Given the description of an element on the screen output the (x, y) to click on. 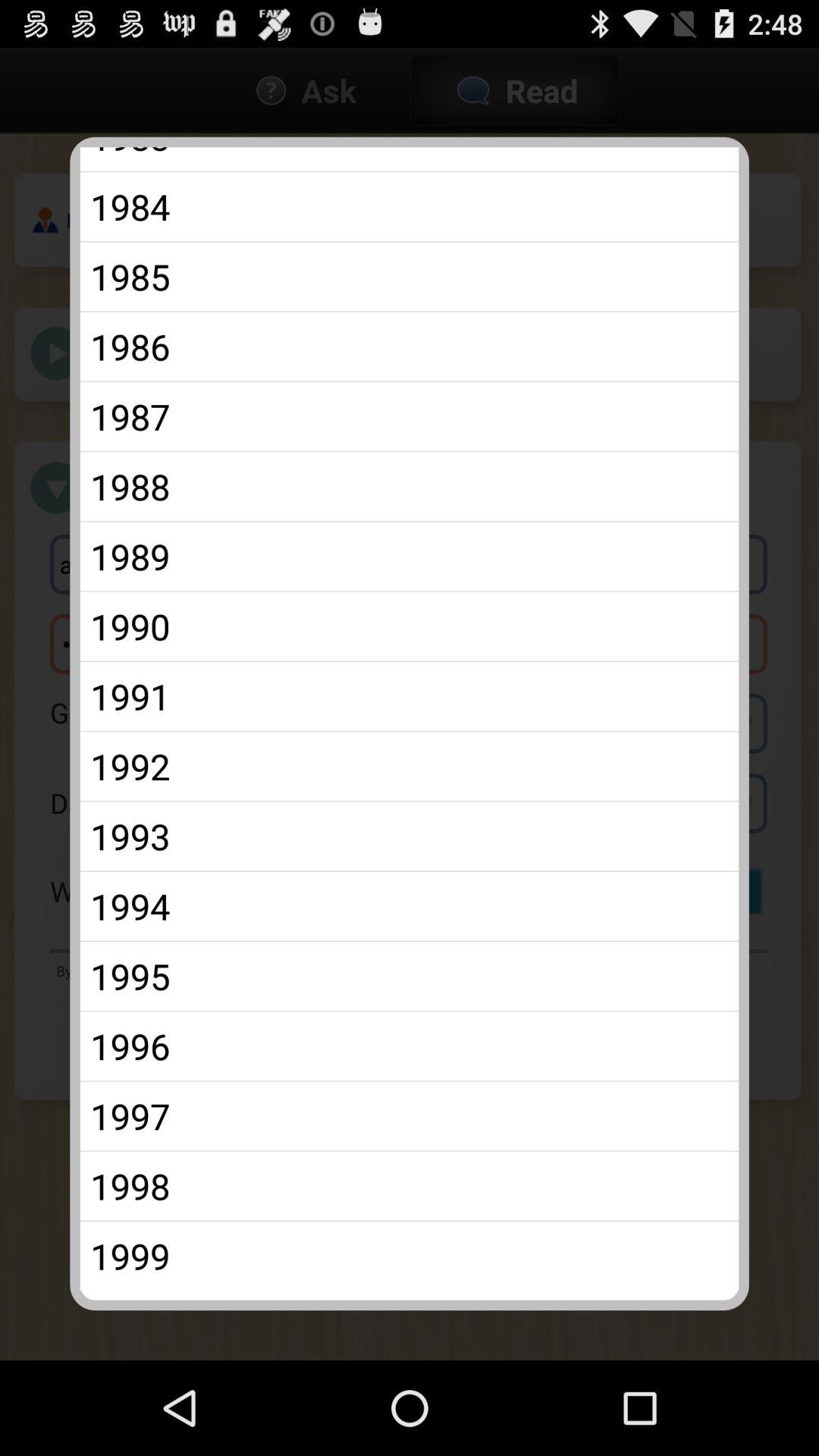
press the 1984 app (409, 206)
